Given the description of an element on the screen output the (x, y) to click on. 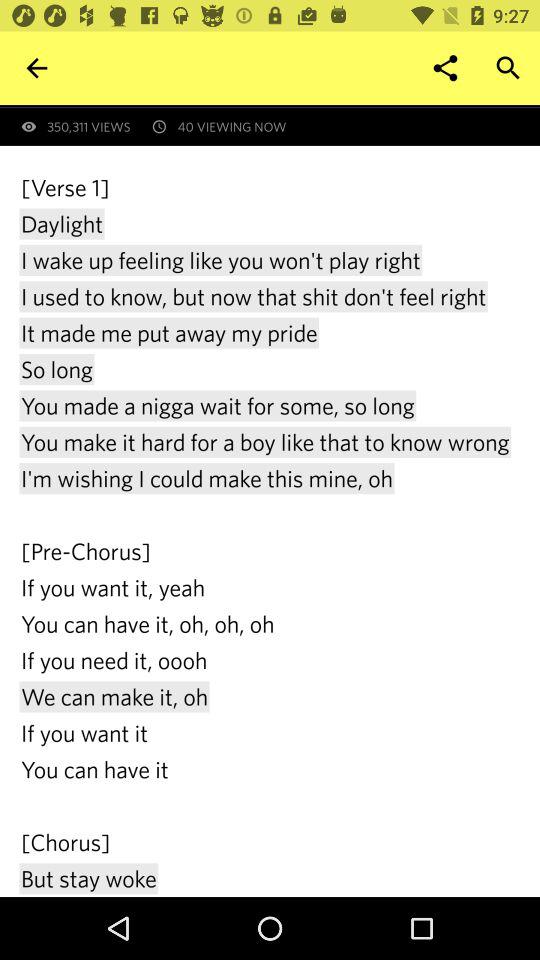
open item above the first revealed at icon (444, 67)
